Given the description of an element on the screen output the (x, y) to click on. 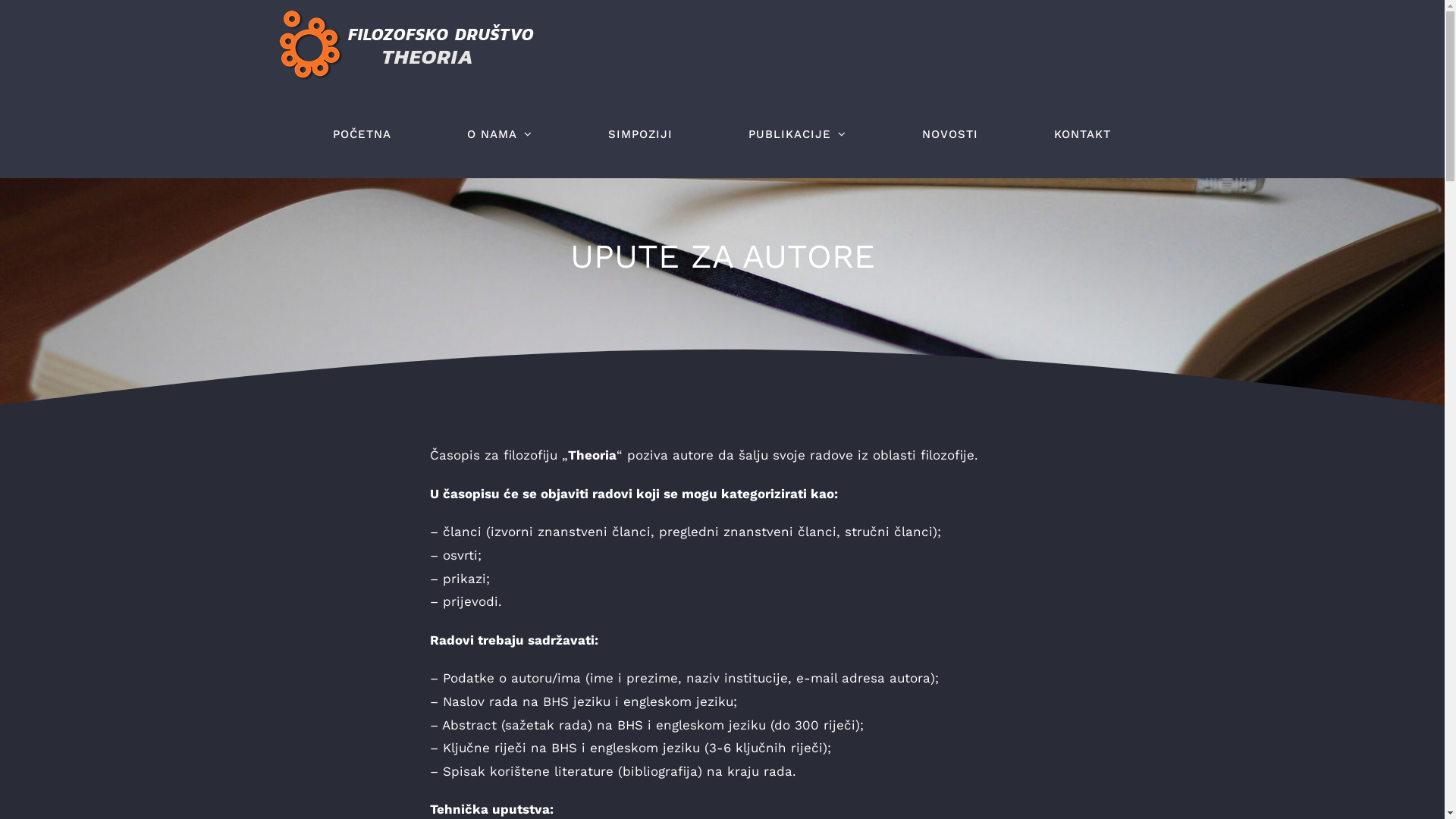
PUBLIKACIJE Element type: text (796, 134)
NOVOSTI Element type: text (949, 134)
O NAMA Element type: text (499, 134)
KONTAKT Element type: text (1082, 134)
SIMPOZIJI Element type: text (640, 134)
